Given the description of an element on the screen output the (x, y) to click on. 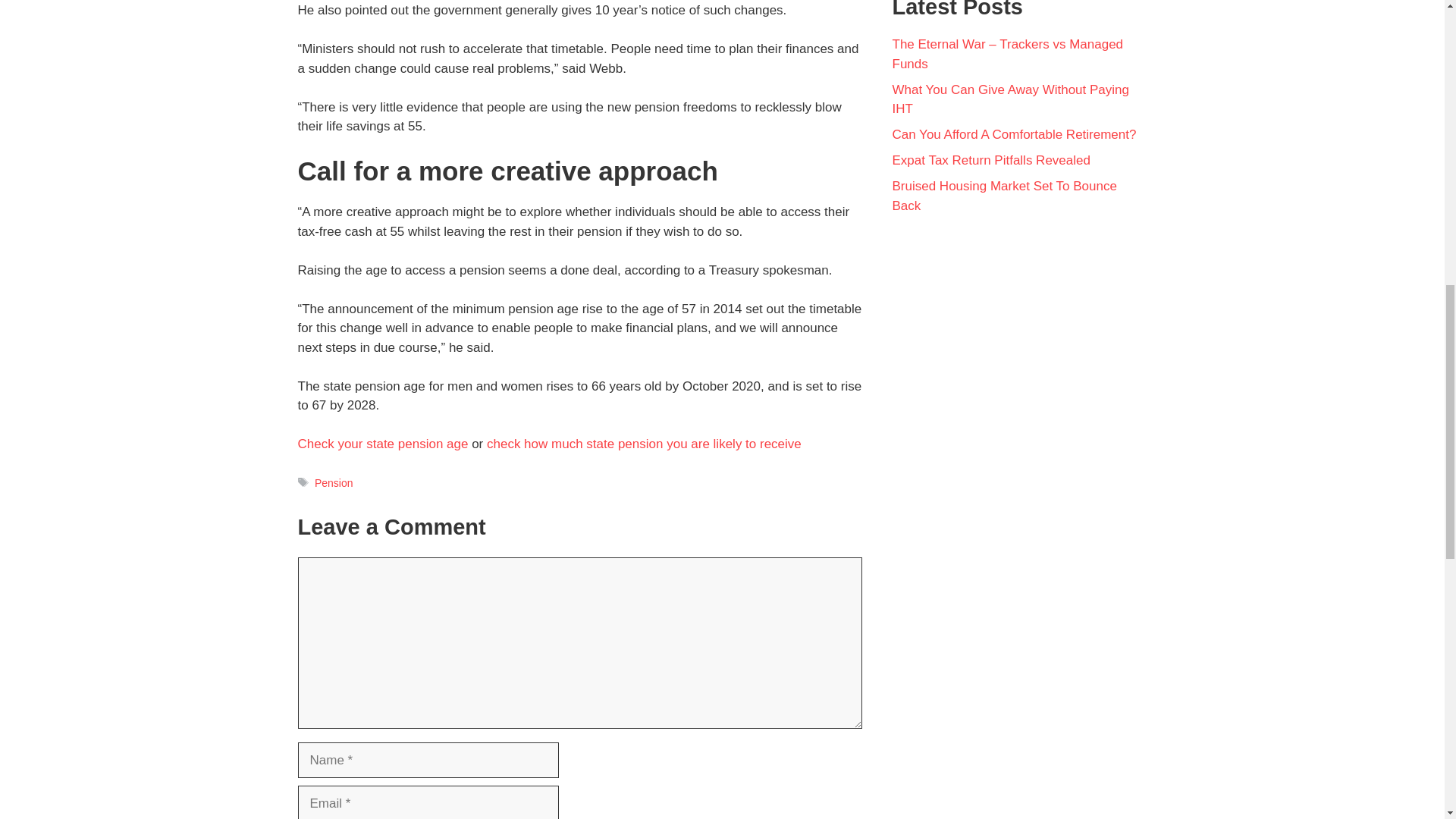
Check your state pension age (382, 443)
check how much state pension you are likely to receive (644, 443)
Can You Afford A Comfortable Retirement? (1013, 134)
What You Can Give Away Without Paying IHT (1009, 99)
Bruised Housing Market Set To Bounce Back (1003, 195)
Expat Tax Return Pitfalls Revealed (990, 160)
Pension (333, 482)
